Given the description of an element on the screen output the (x, y) to click on. 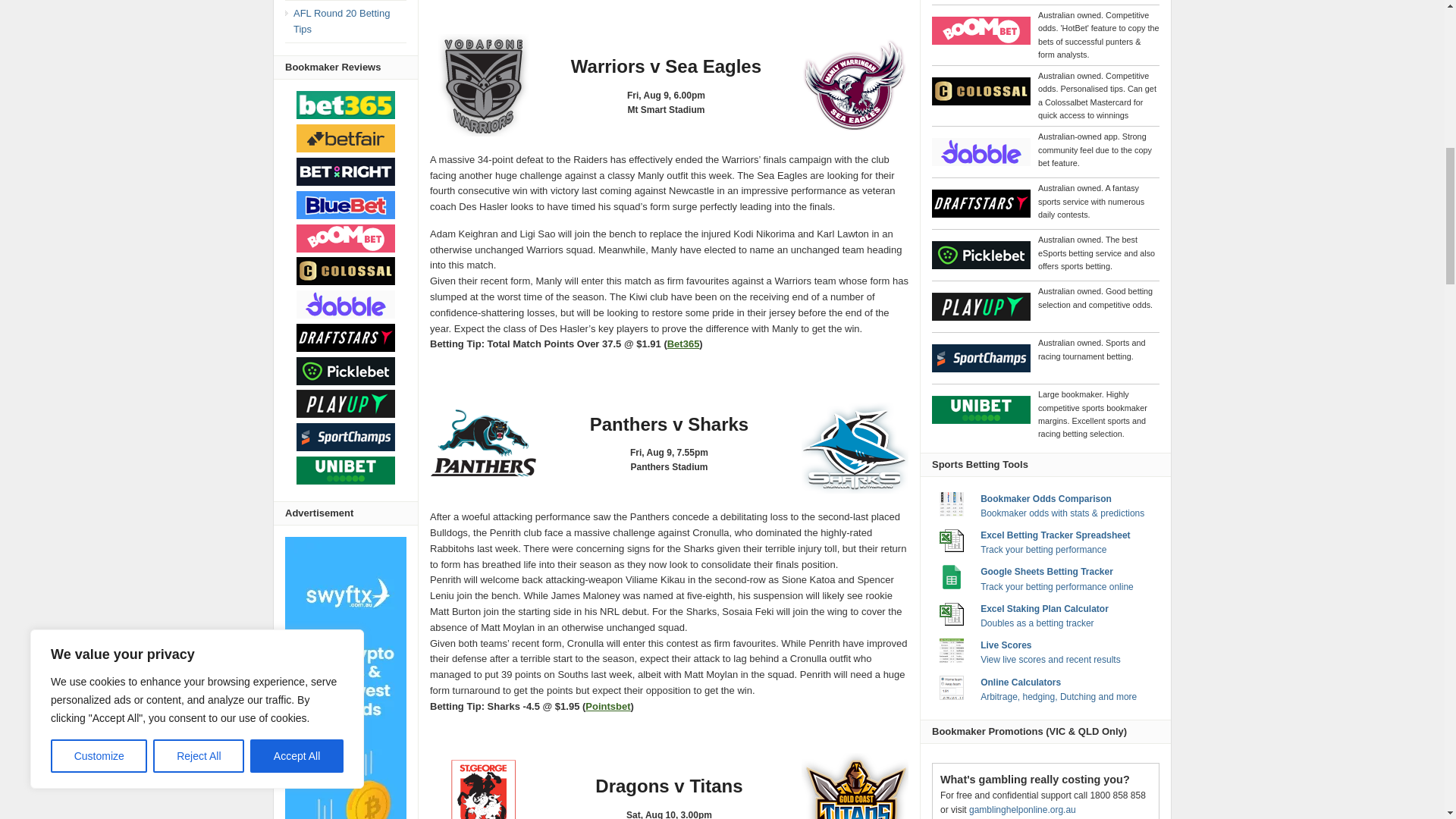
Dabble review (345, 304)
bet365 review (345, 104)
Colossalbet review (345, 271)
Bet Right review (345, 171)
Betfair Australia review (345, 138)
BoomBet review (345, 238)
BlueBet review (345, 204)
